Given the description of an element on the screen output the (x, y) to click on. 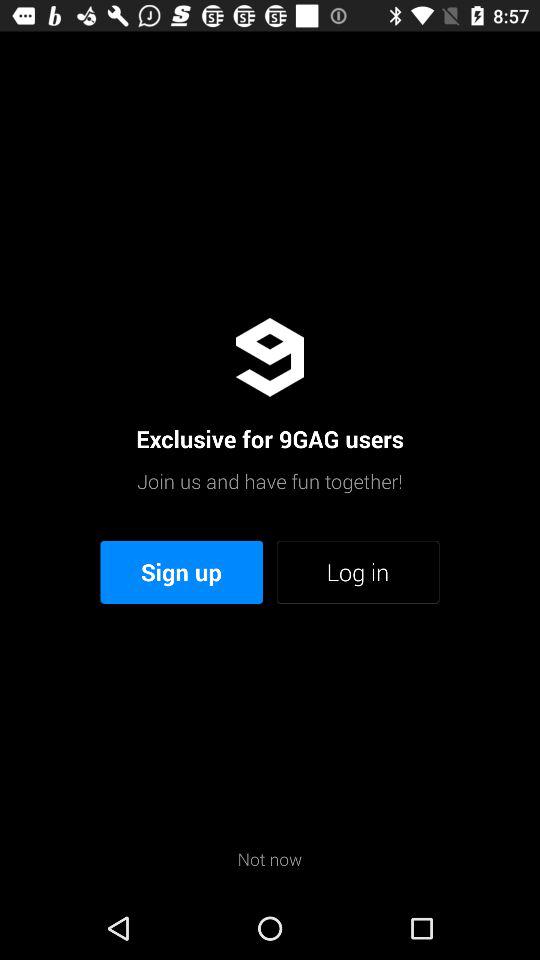
scroll until sign up (181, 571)
